Given the description of an element on the screen output the (x, y) to click on. 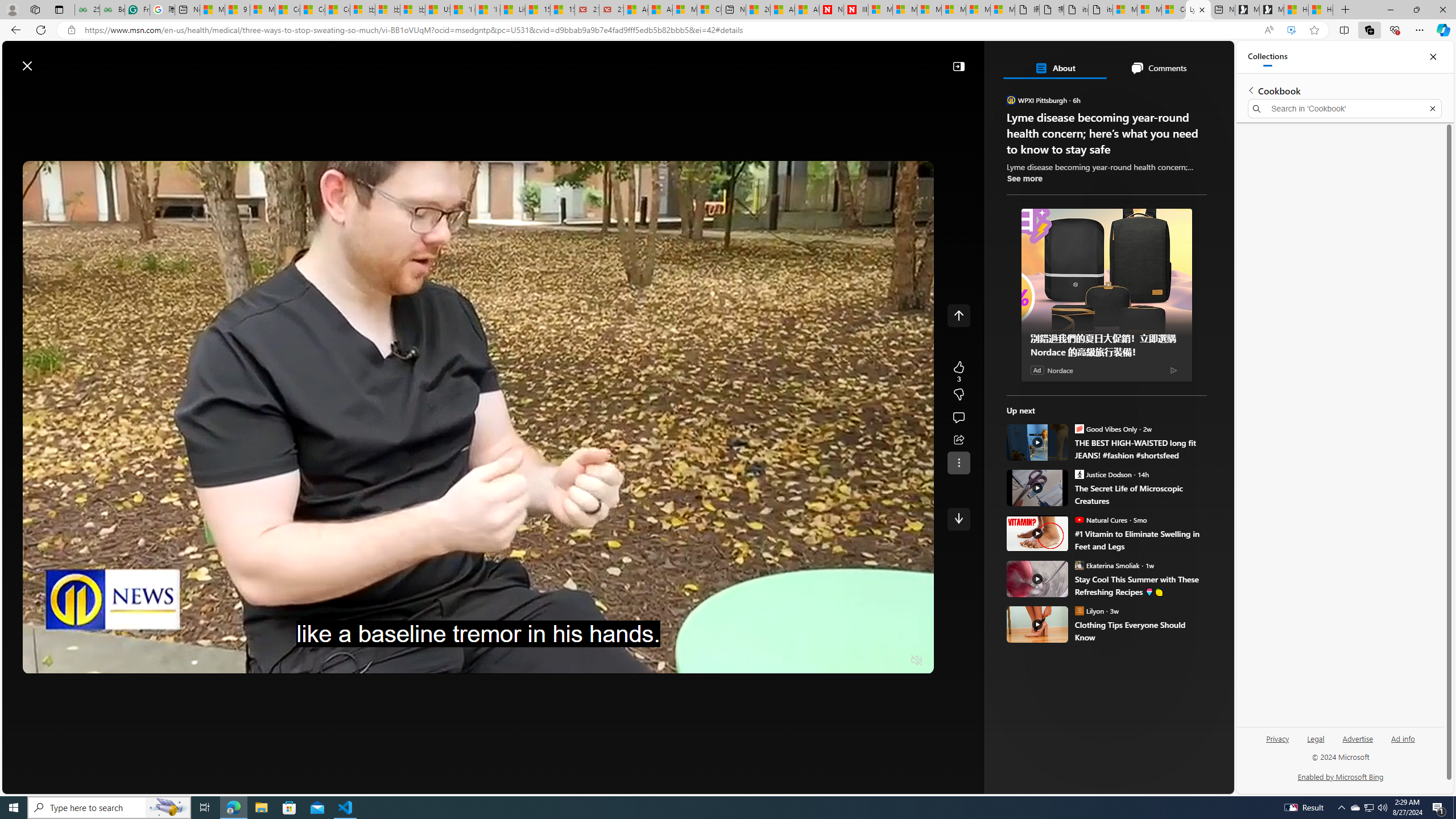
Microsoft Start Gaming (1271, 9)
Quality Settings (849, 660)
Back to list of collections (1250, 90)
Ekaterina Smoliak (1079, 565)
THE BEST HIGH-WAISTED long fit JEANS! #fashion #shortsfeed (1140, 448)
ABC News (1060, 415)
Consumer Health Data Privacy Policy (1174, 9)
Free AI Writing Assistance for Students | Grammarly (136, 9)
Lifestyle - MSN (512, 9)
